Given the description of an element on the screen output the (x, y) to click on. 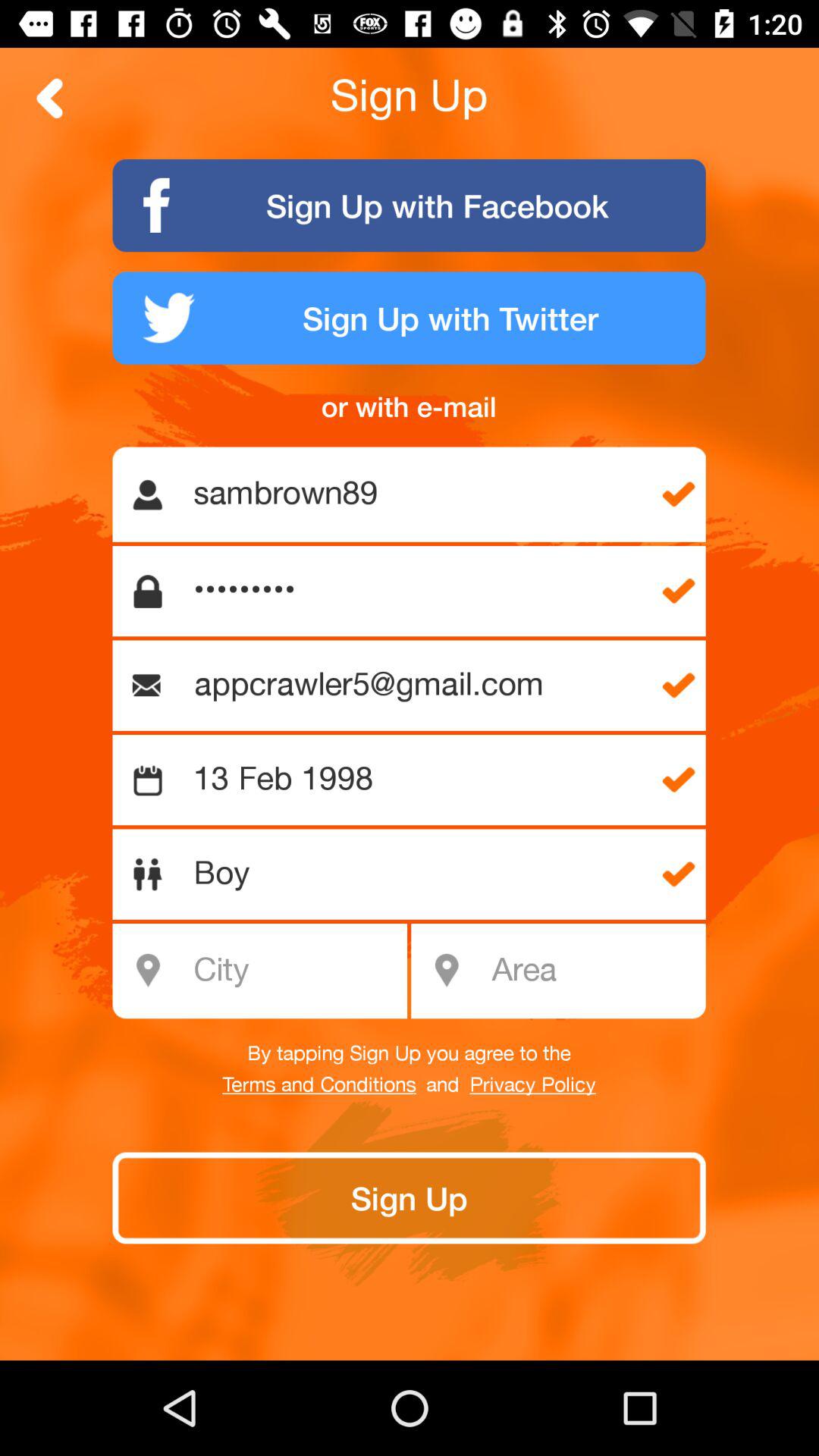
location selection (593, 970)
